Given the description of an element on the screen output the (x, y) to click on. 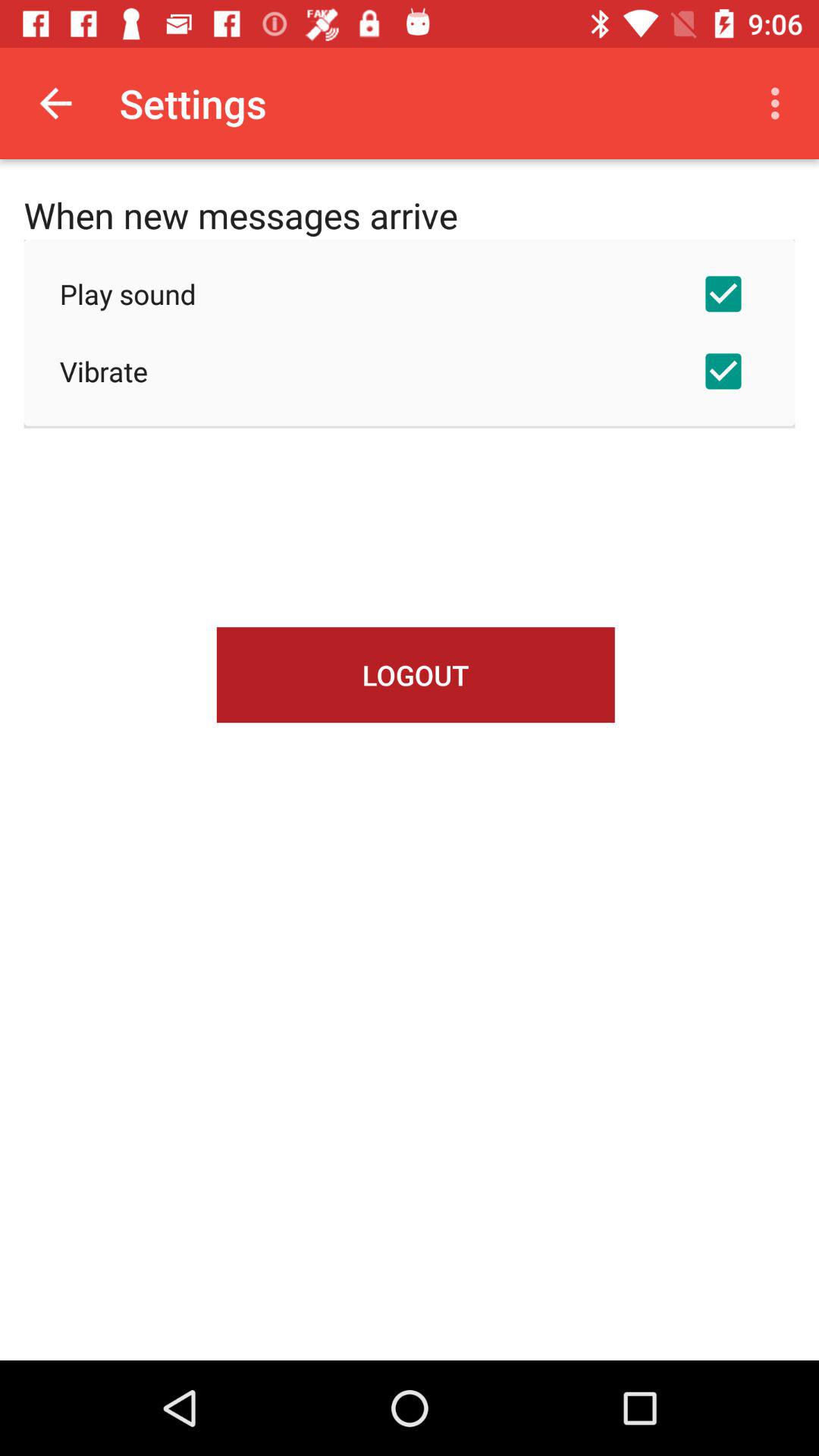
select the item below the when new messages icon (409, 293)
